Given the description of an element on the screen output the (x, y) to click on. 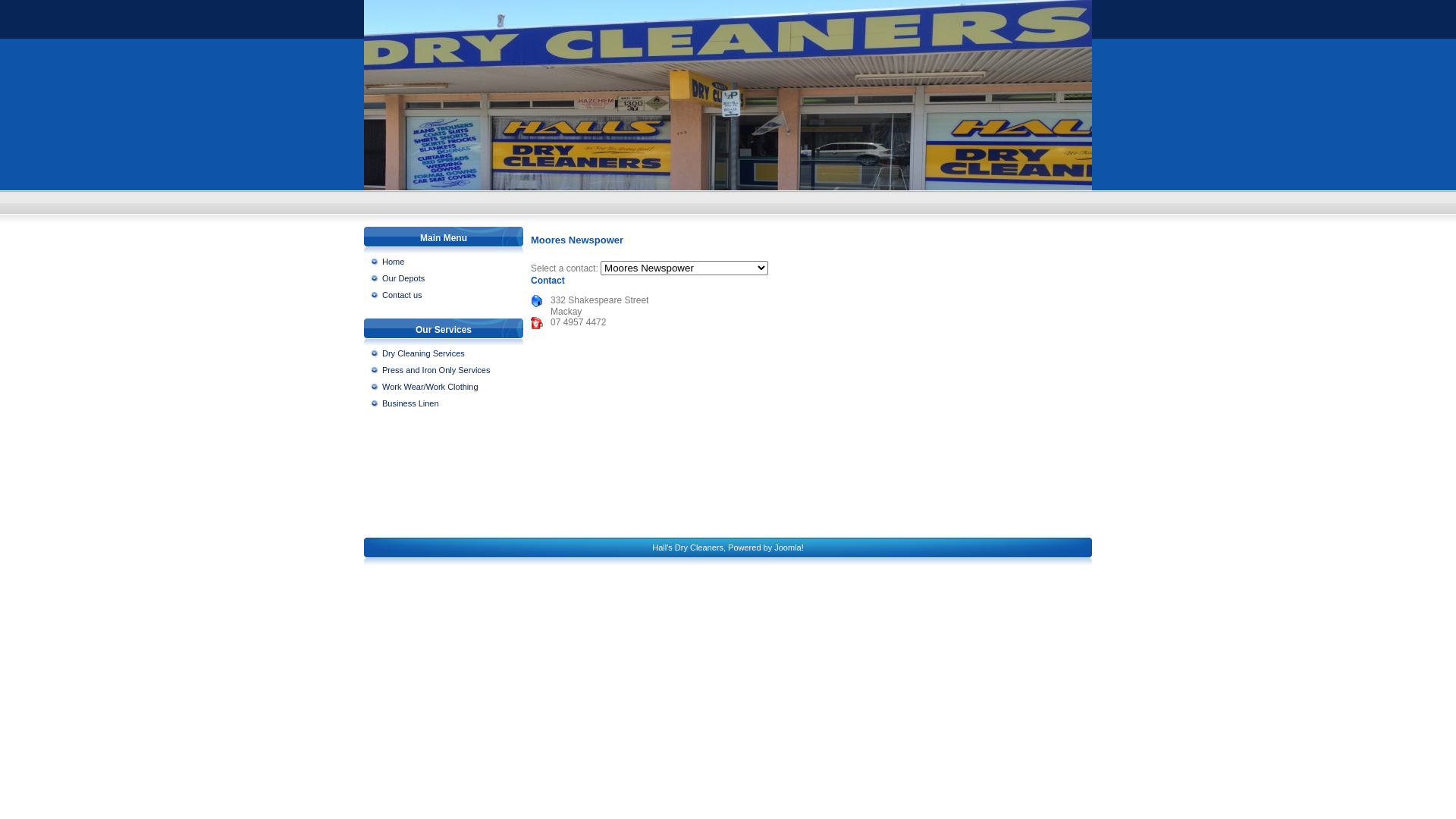
Contact us Element type: text (445, 294)
Home Element type: text (445, 261)
Contact Element type: text (547, 280)
Business Linen Element type: text (445, 403)
Work Wear/Work Clothing Element type: text (445, 386)
Our Depots Element type: text (445, 277)
Joomla! Element type: text (788, 547)
Dry Cleaning Services Element type: text (445, 353)
Press and Iron Only Services Element type: text (445, 369)
